Given the description of an element on the screen output the (x, y) to click on. 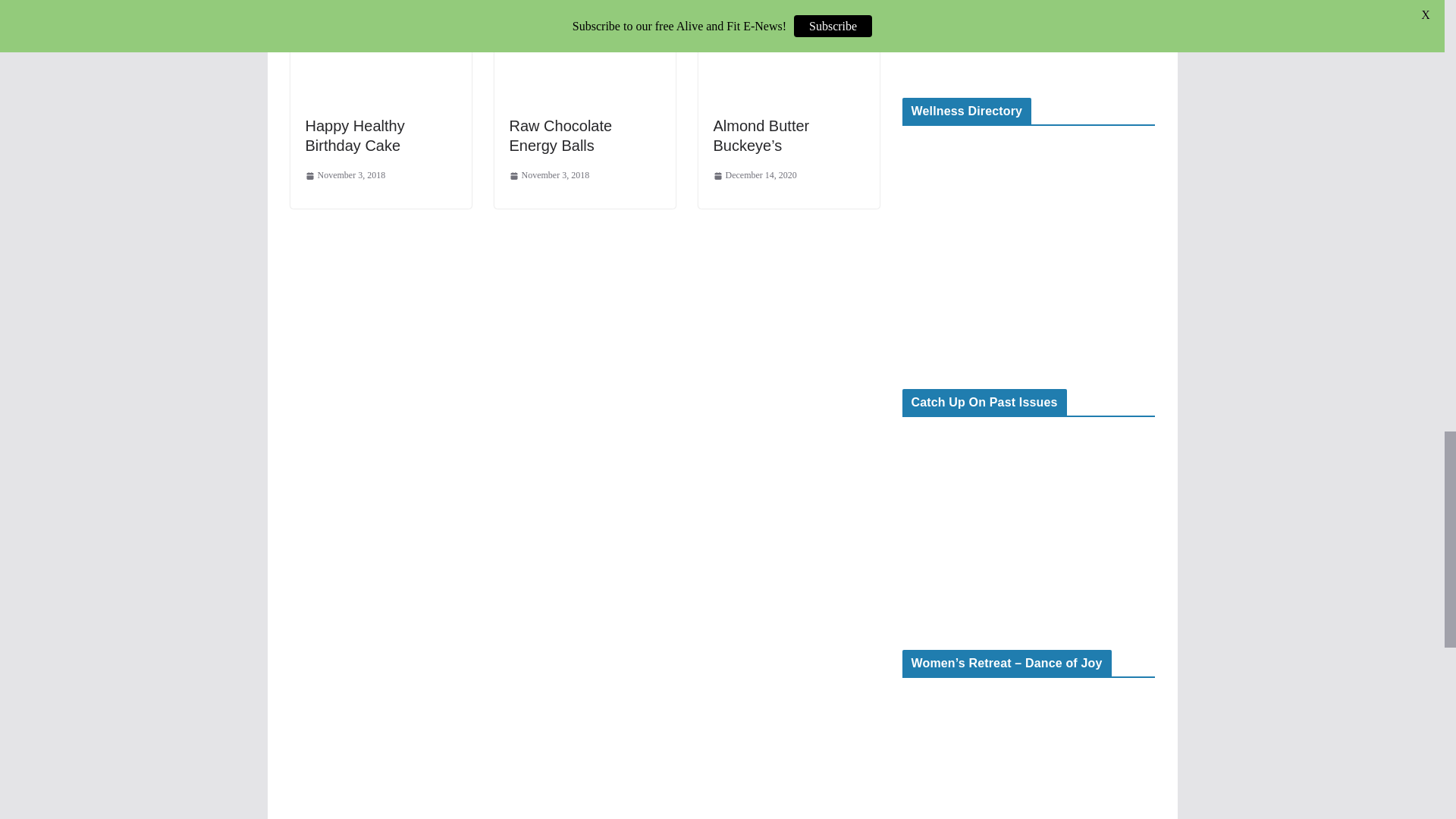
November 3, 2018 (549, 175)
November 3, 2018 (344, 175)
Happy Healthy Birthday Cake (354, 135)
3:24 PM (549, 175)
Happy Healthy Birthday Cake (354, 135)
3:31 PM (754, 175)
Raw Chocolate Energy Balls (560, 135)
3:25 PM (344, 175)
Raw Chocolate Energy Balls (560, 135)
